Given the description of an element on the screen output the (x, y) to click on. 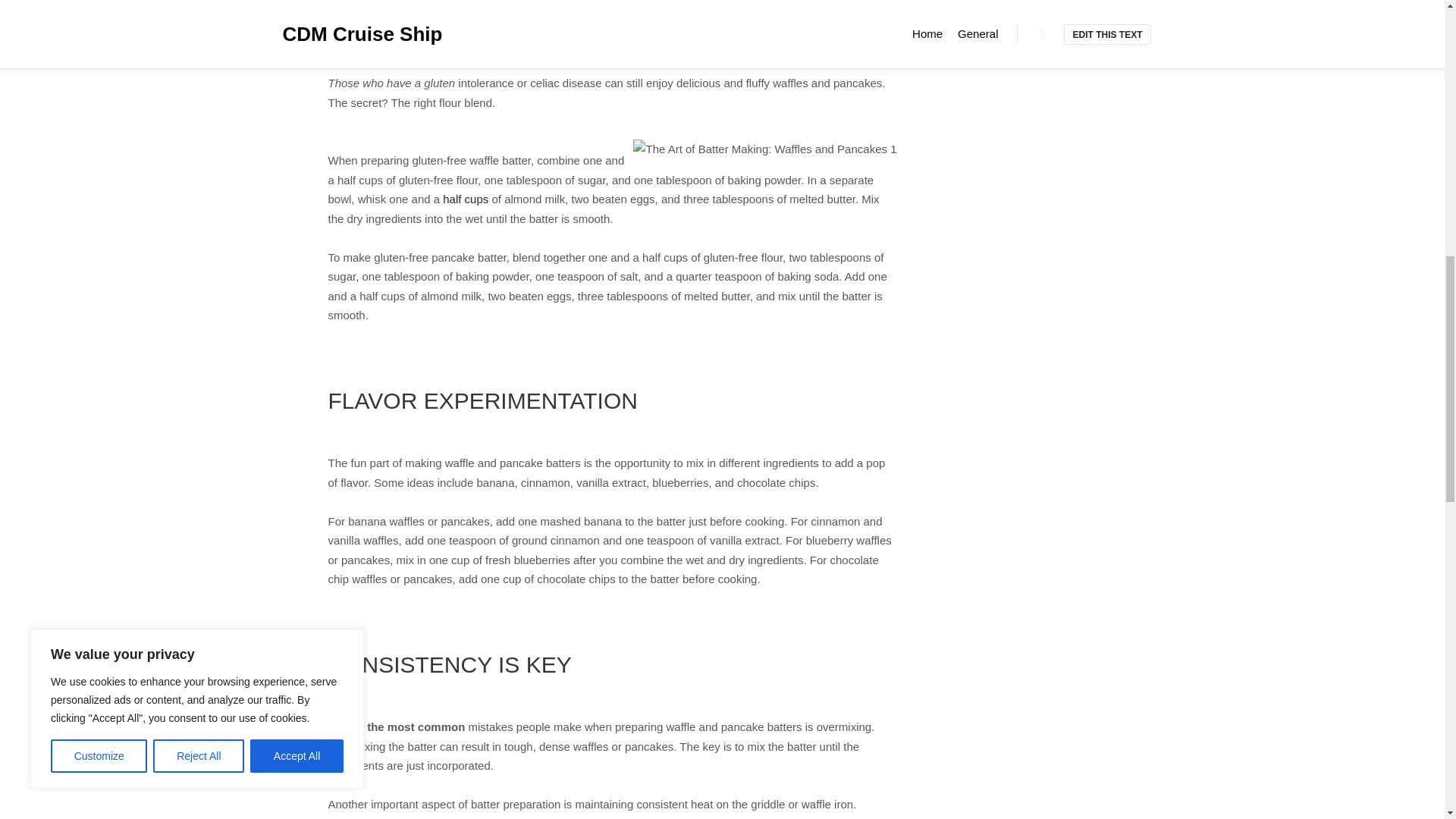
half cups (464, 198)
